Given the description of an element on the screen output the (x, y) to click on. 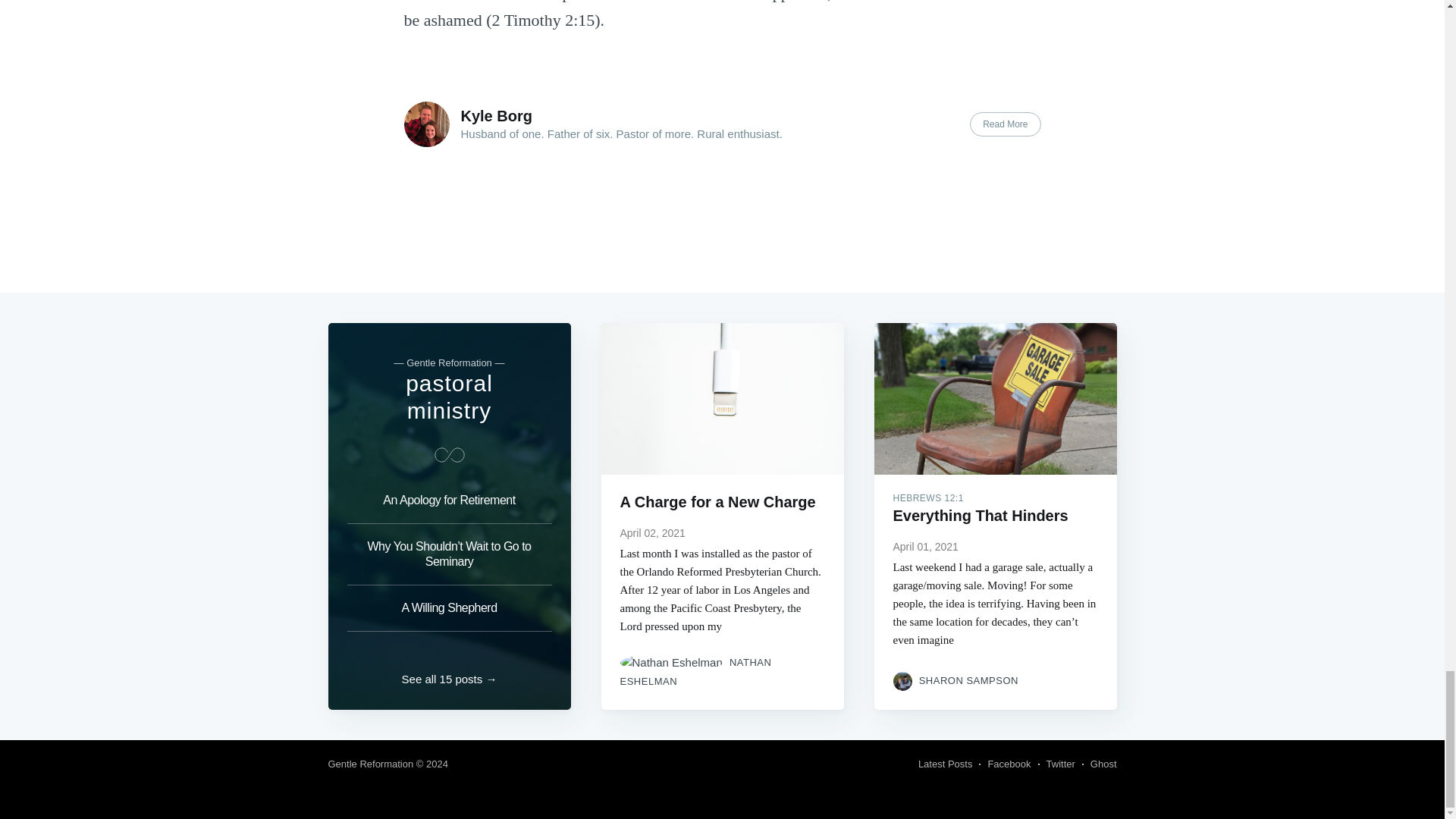
pastoral ministry (449, 397)
Gentle Reformation (370, 763)
Twitter (1060, 764)
Kyle Borg (496, 115)
Facebook (1008, 764)
Read More (1005, 124)
A Willing Shepherd (449, 608)
An Apology for Retirement (449, 504)
Ghost (1103, 764)
Latest Posts (945, 764)
